Given the description of an element on the screen output the (x, y) to click on. 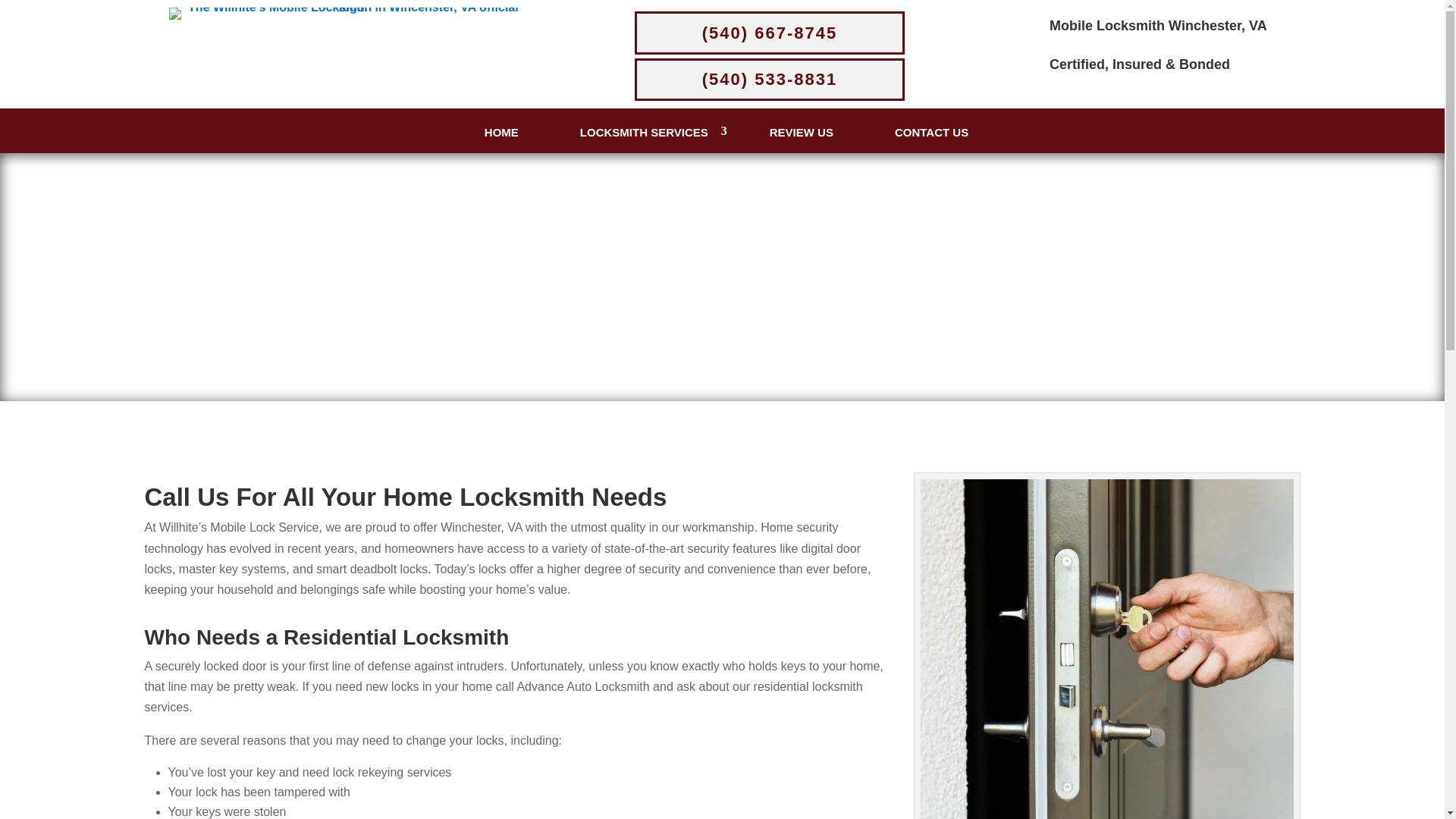
LOCKSMITH SERVICES (644, 132)
HOME (501, 132)
REVIEW US (801, 132)
CONTACT US (930, 132)
